Given the description of an element on the screen output the (x, y) to click on. 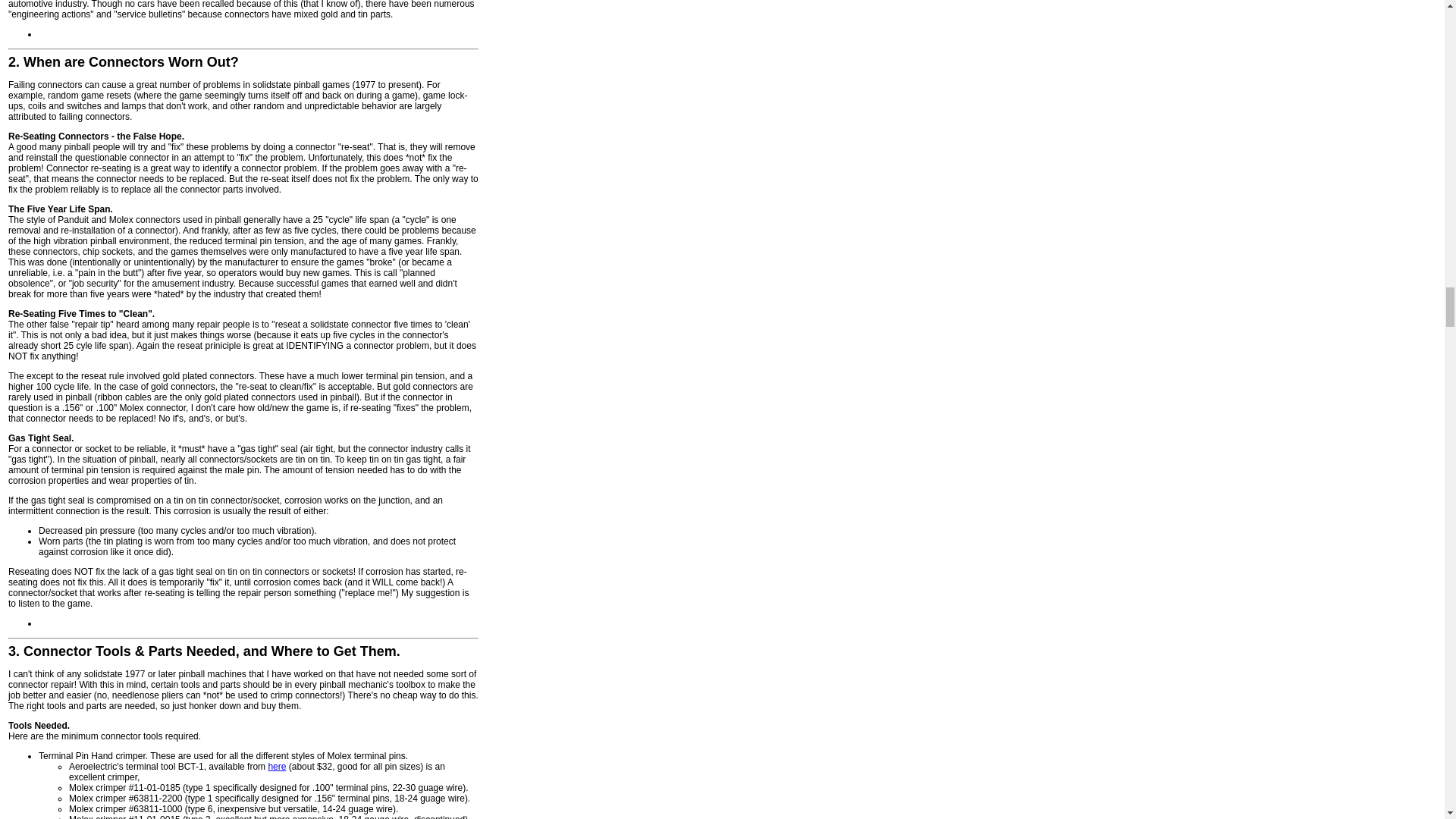
here (276, 766)
